Given the description of an element on the screen output the (x, y) to click on. 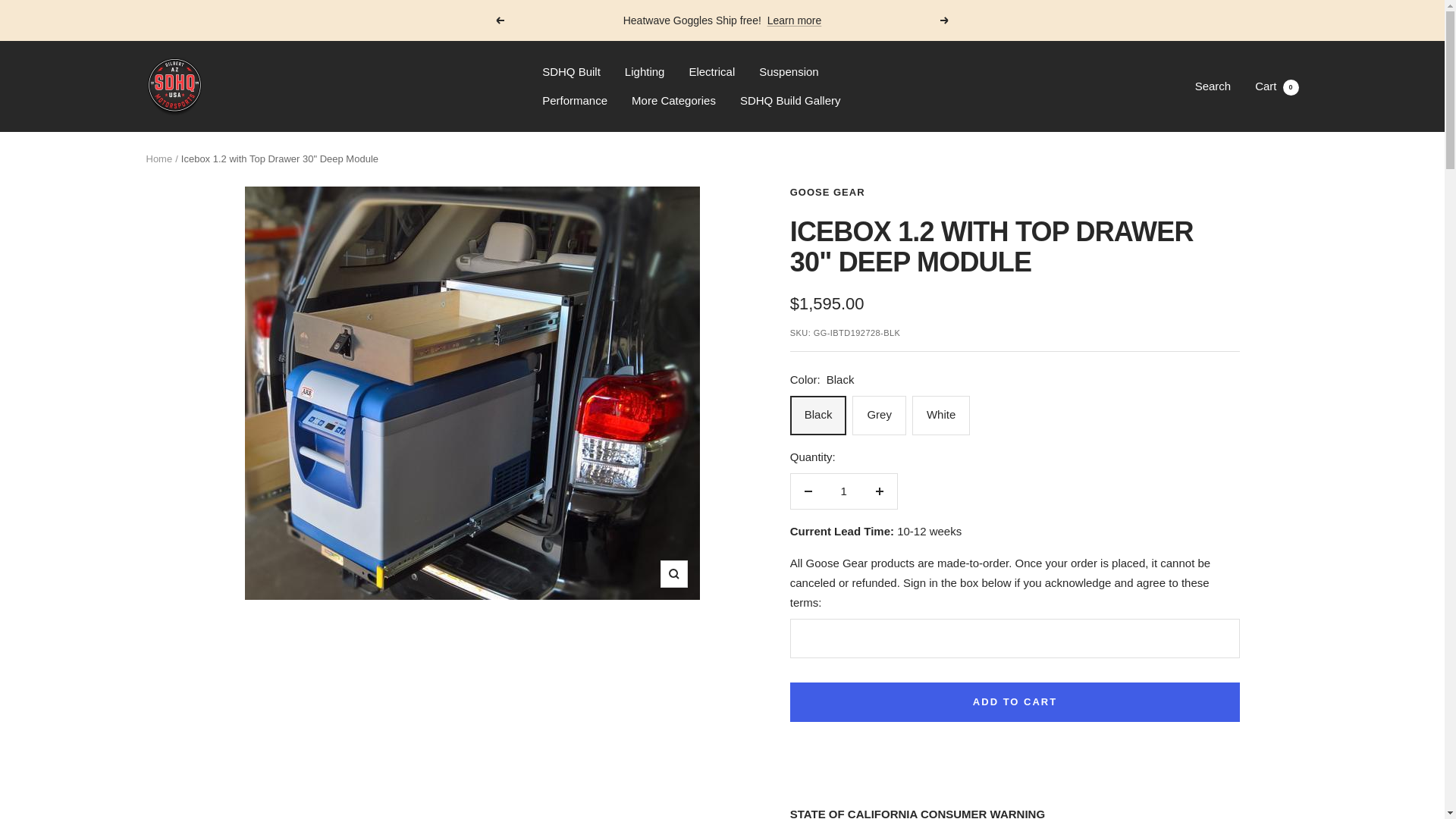
GOOSE GEAR (827, 192)
Zoom (674, 574)
Next (944, 20)
Decrease quantity (807, 491)
SDHQ Built (570, 71)
STATE OF CALIFORNIA CONSUMER WARNING (917, 813)
Performance (574, 100)
SDHQ (173, 86)
Suspension (788, 71)
SDHQ Build Gallery (790, 100)
